Given the description of an element on the screen output the (x, y) to click on. 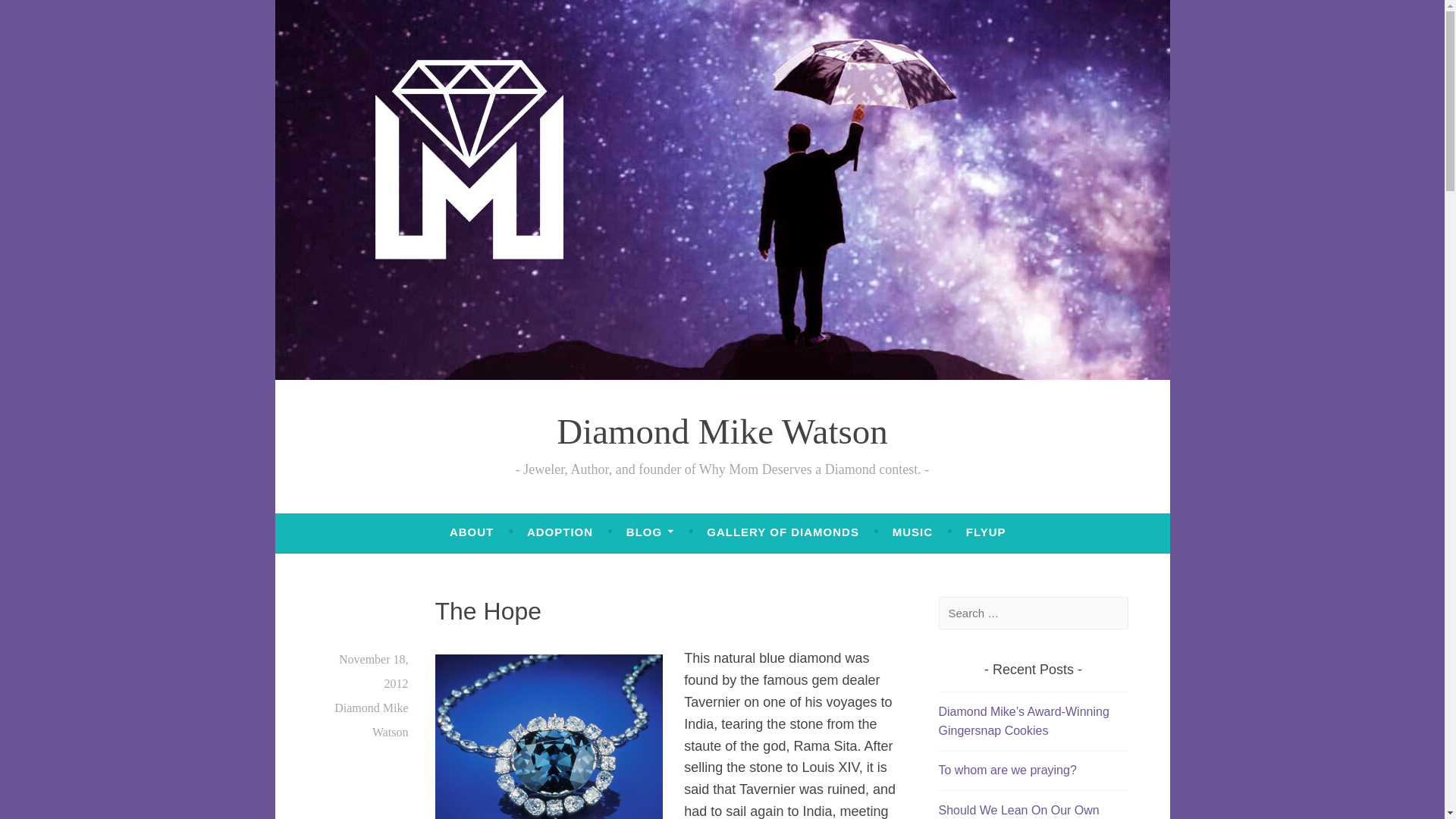
ABOUT (471, 532)
November 18, 2012 (374, 671)
Diamond Mike Watson (722, 431)
FLYUP (986, 532)
MUSIC (912, 532)
GALLERY OF DIAMONDS (782, 532)
TheHopeDiamond (548, 736)
ADOPTION (559, 532)
BLOG (650, 532)
Diamond Mike Watson (370, 719)
ASK DIAMOND MIKE (466, 624)
